Given the description of an element on the screen output the (x, y) to click on. 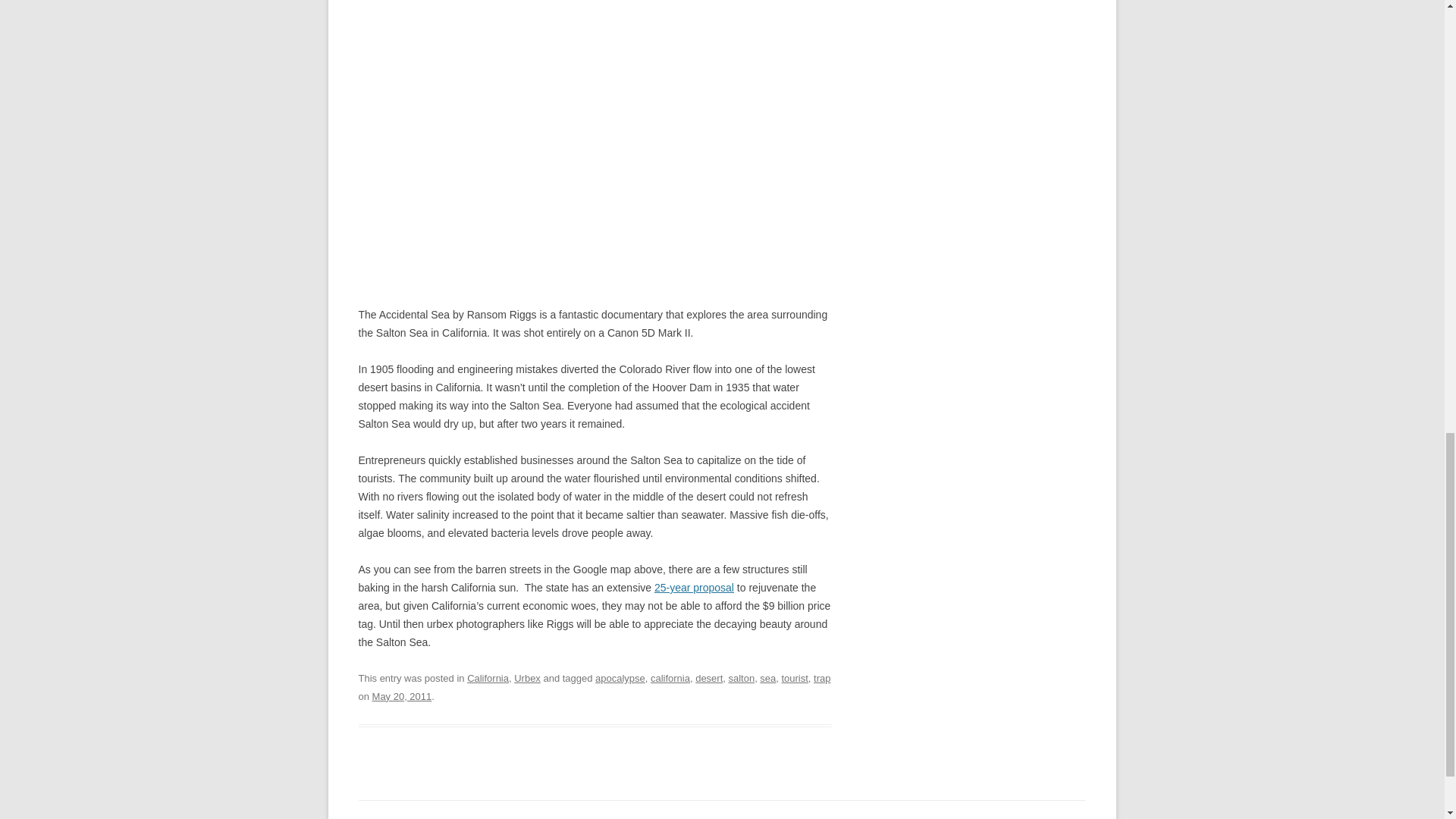
salton (741, 677)
sea (768, 677)
tourist (794, 677)
Urbex (526, 677)
1:55 pm (402, 696)
Salton Sea (693, 587)
apocalypse (620, 677)
25-year proposal (693, 587)
trap (821, 677)
May 20, 2011 (402, 696)
california (670, 677)
desert (708, 677)
California (487, 677)
